Given the description of an element on the screen output the (x, y) to click on. 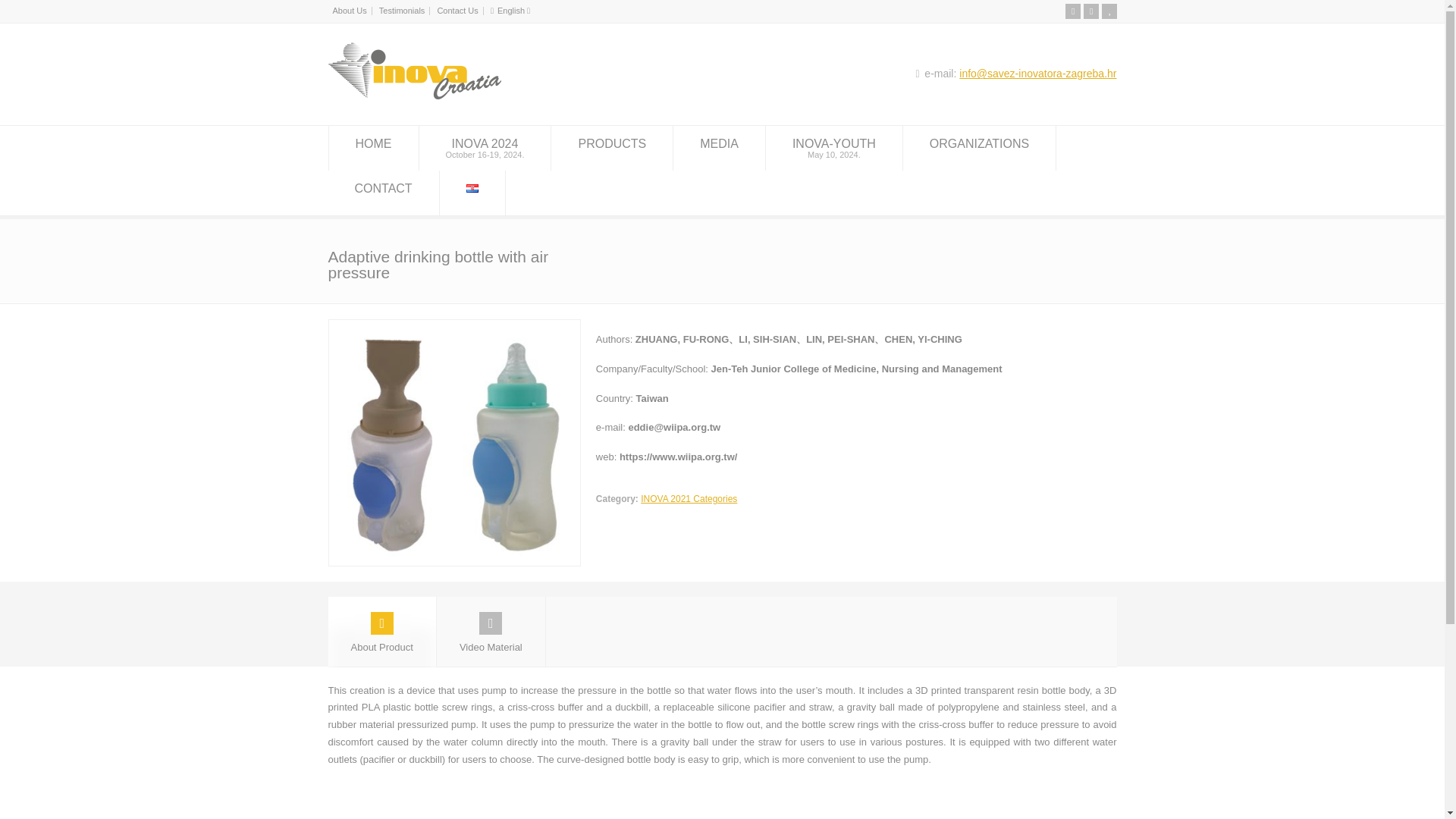
About Product (718, 148)
Instagram (381, 632)
INOVA-CROATIA (1090, 11)
Facebook (413, 96)
YouTube (1072, 11)
Video Material (1108, 11)
INOVA 2021 Categories (490, 632)
About Us (484, 148)
Testimonials (688, 498)
